Given the description of an element on the screen output the (x, y) to click on. 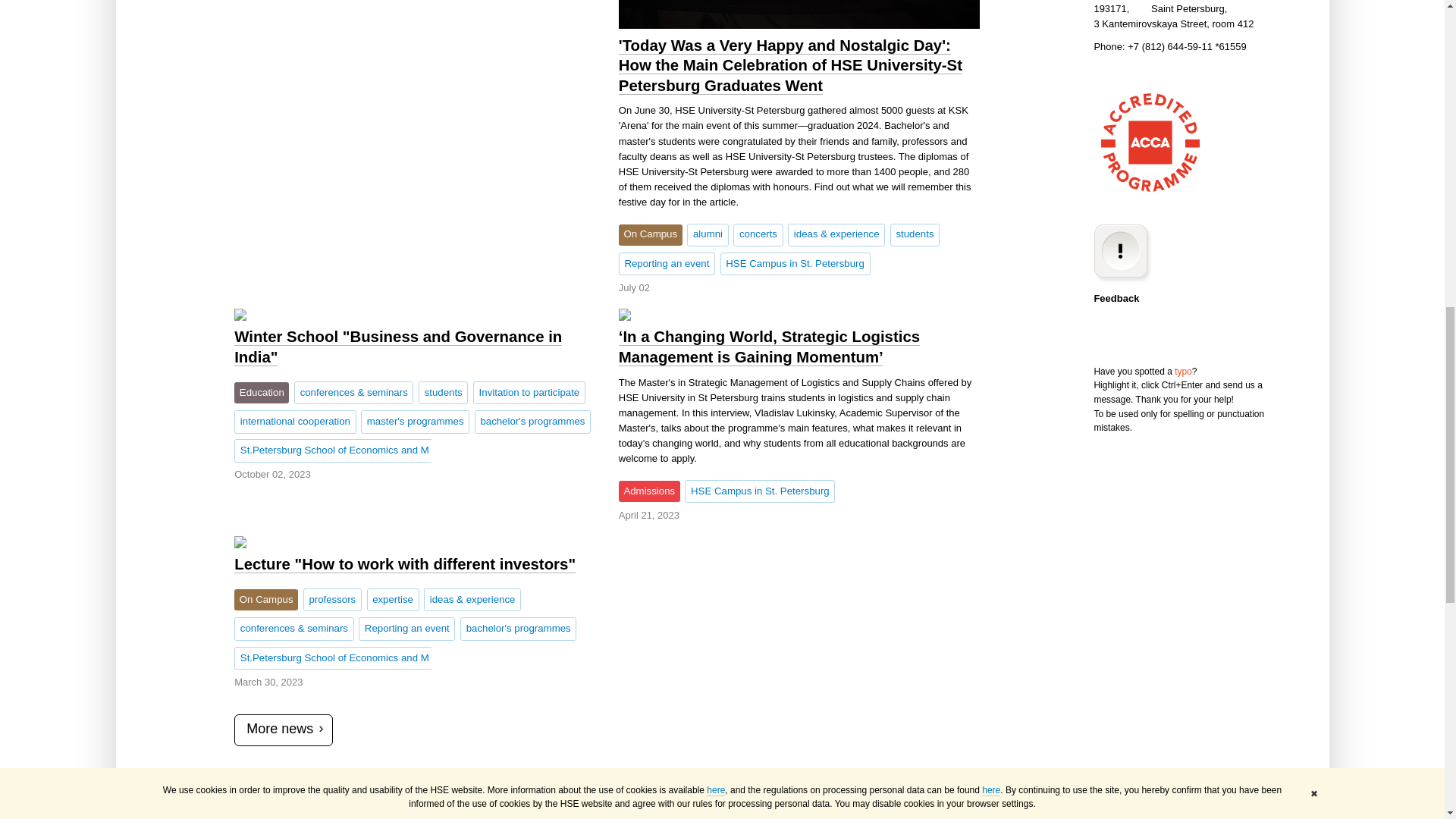
Admissions (648, 491)
St.Petersburg School of Economics and Management (332, 449)
bachelor's programmes (532, 421)
HSE Campus in St. Petersburg (795, 263)
international cooperation (294, 421)
Reporting an event (666, 263)
master's programmes  (414, 421)
Invitation to participate (529, 392)
concerts (758, 234)
Education (261, 392)
On Campus (650, 234)
alumni (707, 234)
students (914, 234)
students (443, 392)
